Given the description of an element on the screen output the (x, y) to click on. 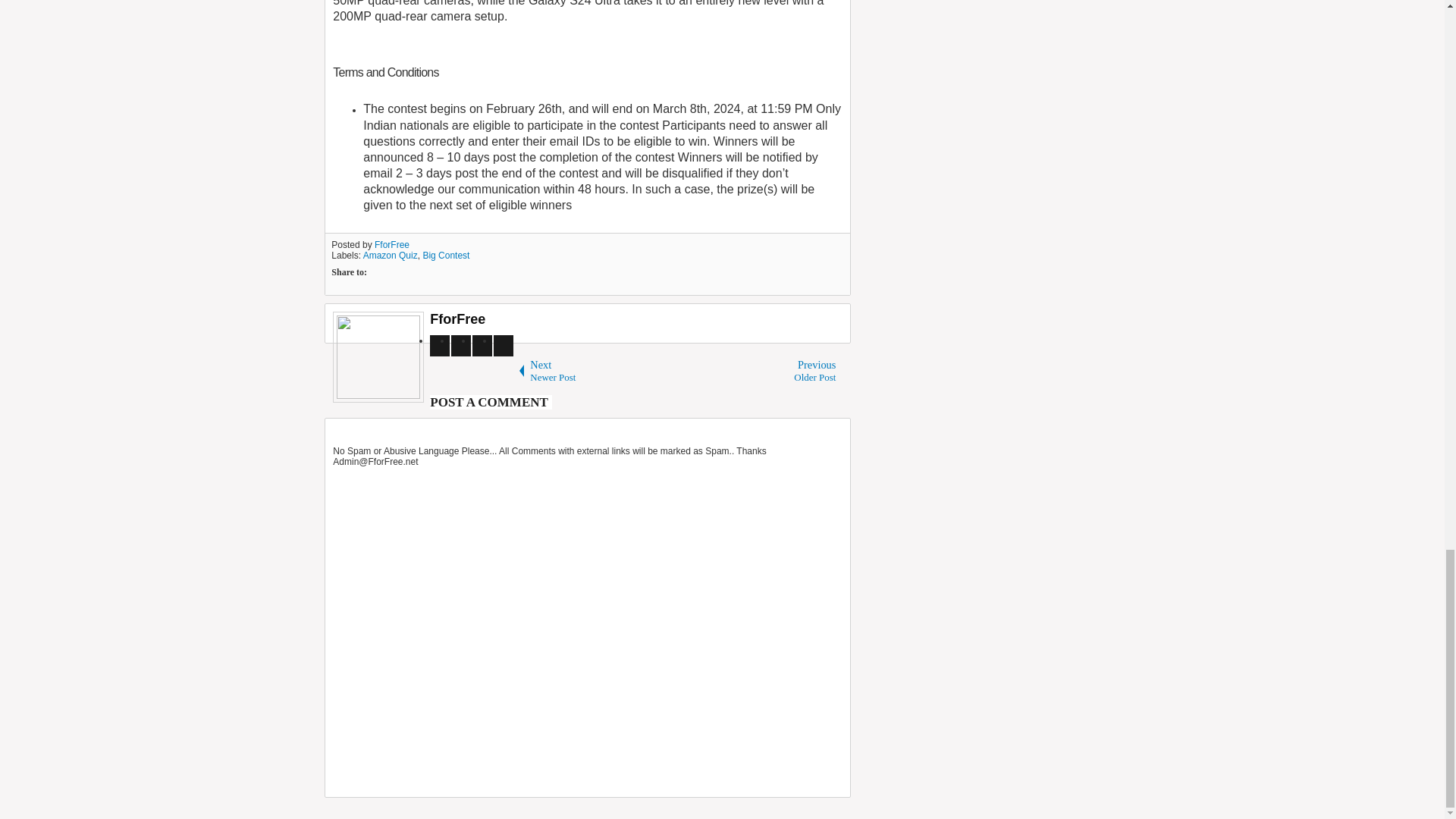
Older Post (766, 371)
author profile (391, 244)
Newer Post (598, 371)
author profile (456, 319)
